Given the description of an element on the screen output the (x, y) to click on. 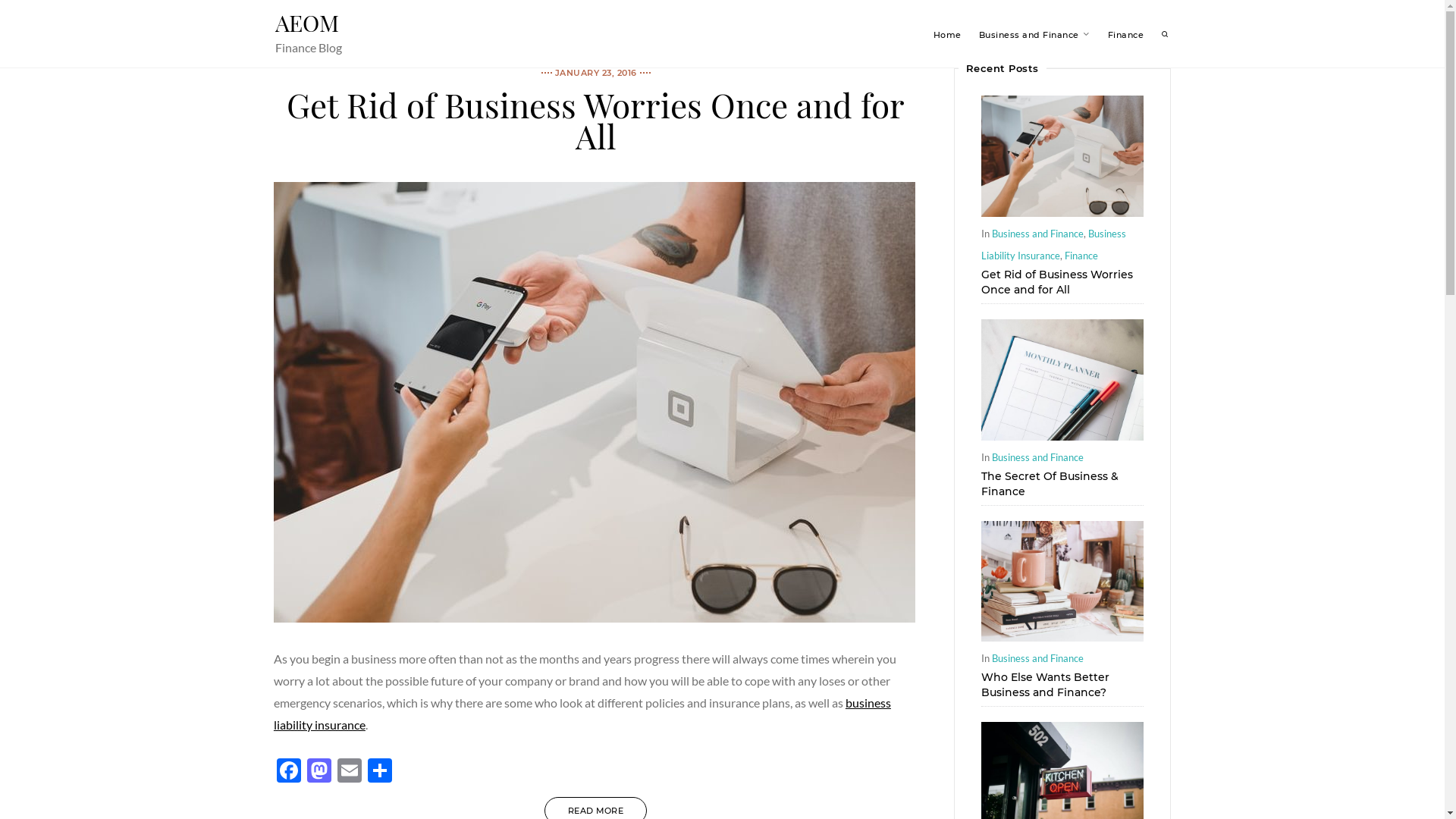
Facebook Element type: text (288, 771)
business liability insurance Element type: text (582, 713)
Get Rid of Business Worries Once and for All Element type: hover (1062, 211)
Business and Finance Element type: text (1037, 233)
Business and Finance Element type: text (1037, 456)
Get Rid of Business Worries Once and for All Element type: text (595, 119)
Get Rid of Business Worries Once and for All Element type: hover (594, 617)
Business and Finance Element type: text (1028, 34)
Get Rid of Business Worries Once and for All Element type: text (1056, 281)
Home Element type: text (946, 34)
AEOM Element type: text (306, 22)
Business Liability Insurance Element type: text (1053, 244)
Mastodon Element type: text (319, 771)
The Secret Of Business & Finance Element type: text (1049, 482)
Finance Element type: text (1125, 34)
Search the website Element type: hover (1165, 34)
Business and Finance Element type: text (1037, 658)
The Secret Of Business & Finance Element type: hover (1062, 434)
Finance Element type: text (1081, 255)
Email Element type: text (349, 771)
Who Else Wants Better Business and Finance? Element type: text (1045, 684)
Who Else Wants Better Business and Finance? Element type: hover (1062, 636)
Share Element type: text (379, 771)
